Given the description of an element on the screen output the (x, y) to click on. 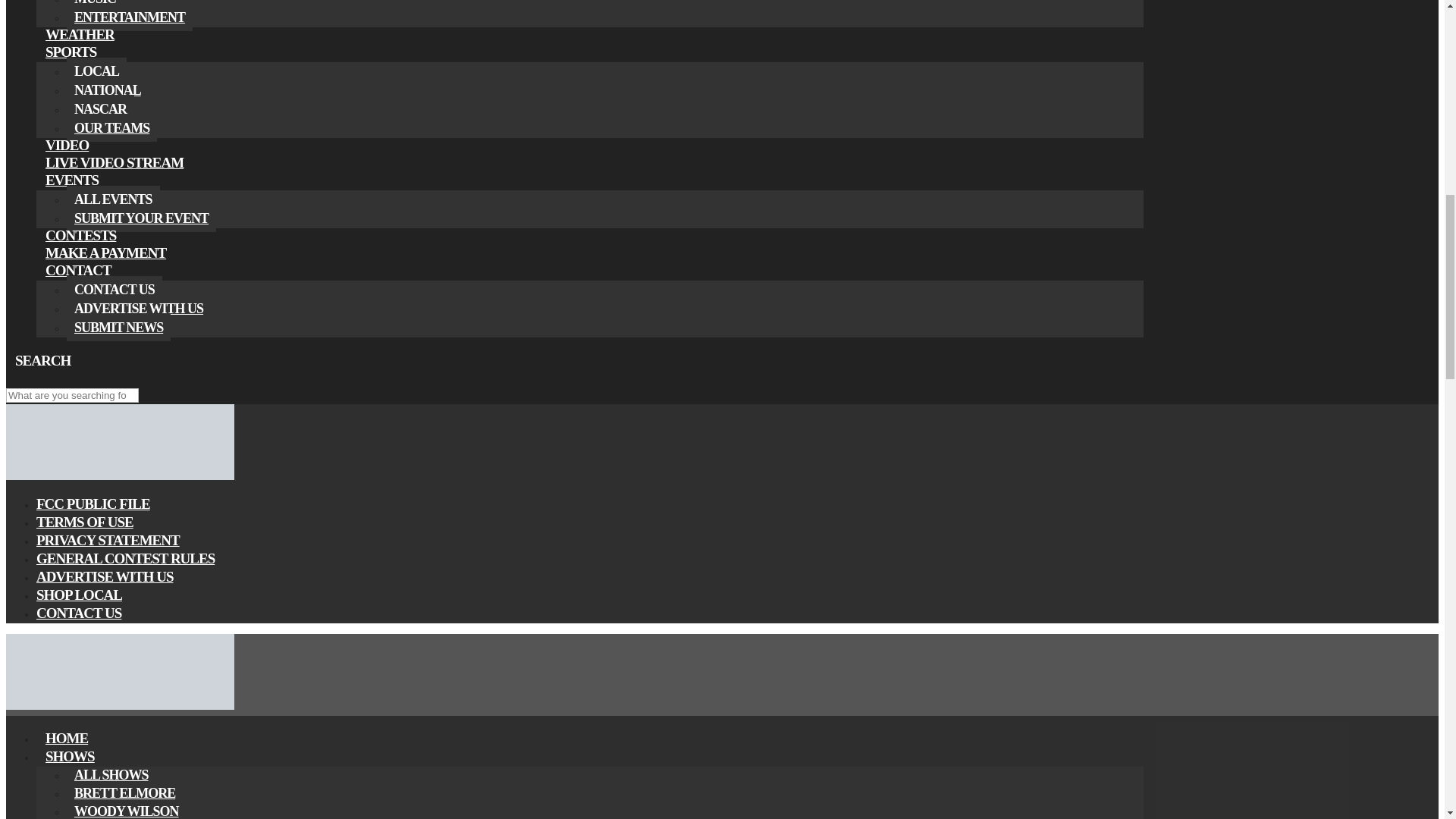
Search for: (71, 395)
WJLX 101.5 FM (119, 476)
